Given the description of an element on the screen output the (x, y) to click on. 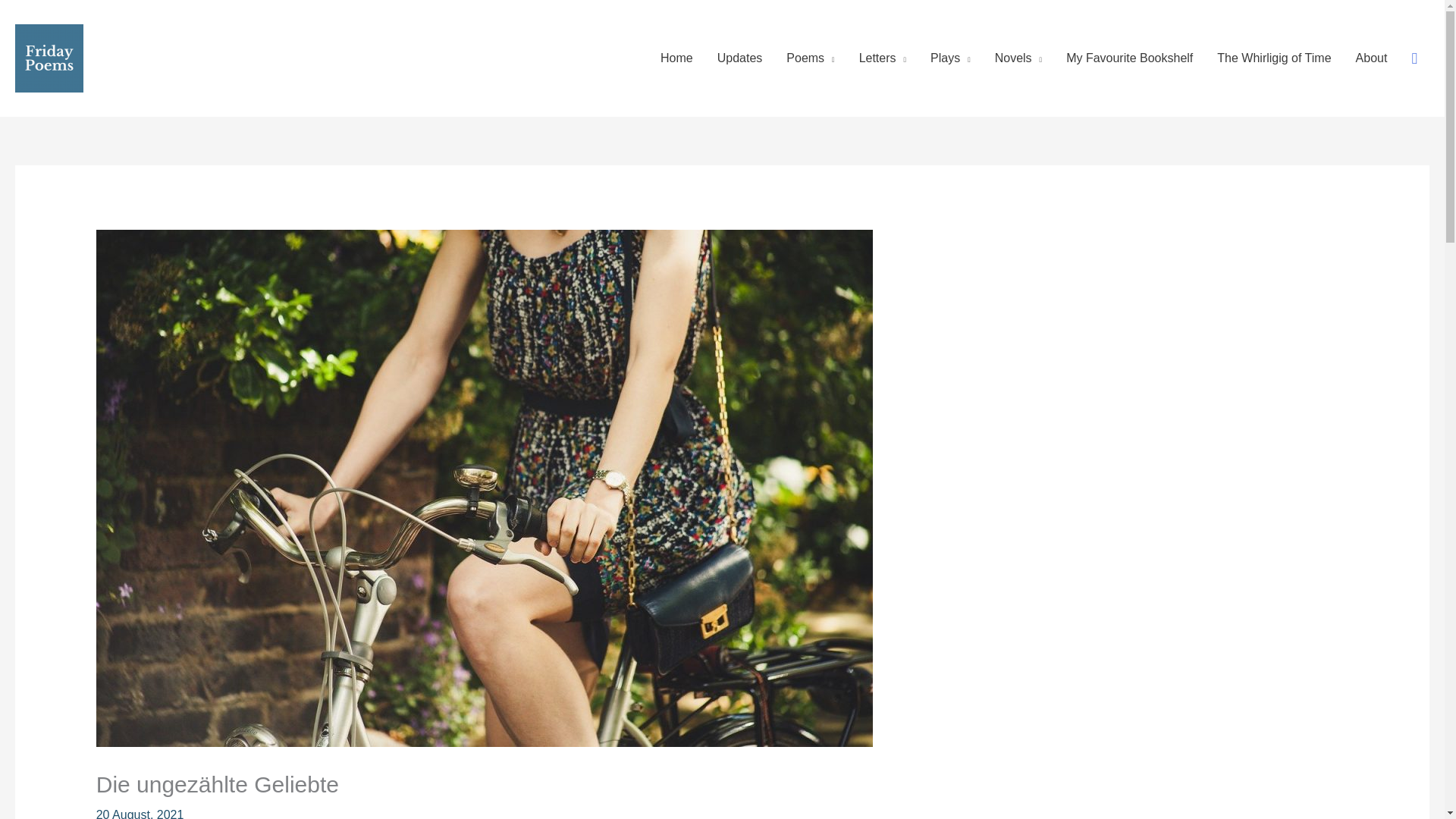
Updates (739, 58)
The Whirligig of Time (1273, 58)
Novels (1018, 58)
Home (675, 58)
Letters (882, 58)
Plays (950, 58)
About (1371, 58)
Poems (809, 58)
My Favourite Bookshelf (1129, 58)
